Given the description of an element on the screen output the (x, y) to click on. 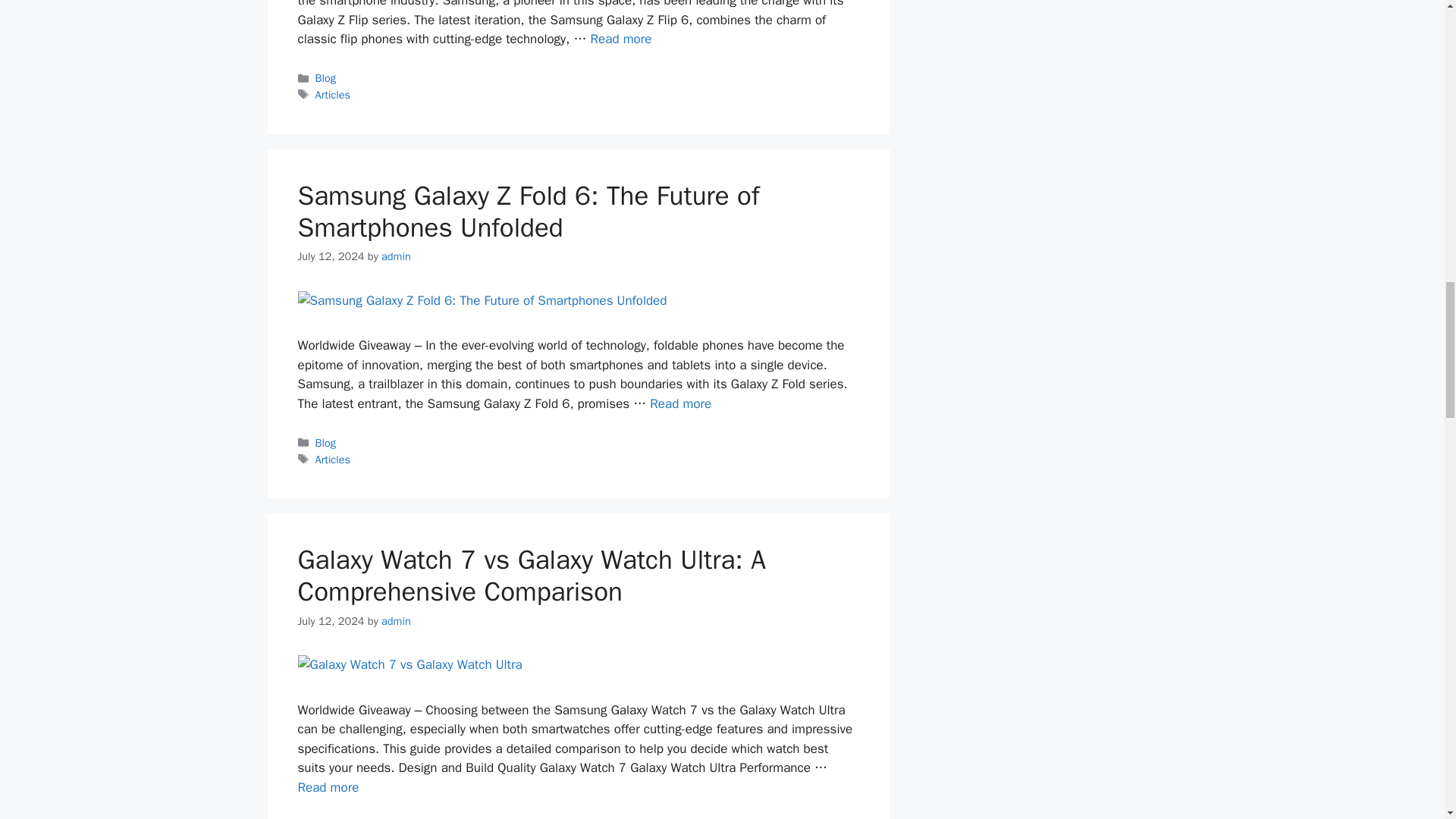
Articles (332, 94)
admin (395, 621)
Articles (332, 459)
Blog (325, 442)
Read more (680, 403)
View all posts by admin (395, 621)
Samsung Galaxy Z Fold 6: The Future of Smartphones Unfolded (680, 403)
Samsung Galaxy Z Fold 6: The Future of Smartphones Unfolded (527, 211)
Blog (325, 78)
Read more (327, 787)
admin (395, 255)
Read more (621, 38)
View all posts by admin (395, 255)
